Given the description of an element on the screen output the (x, y) to click on. 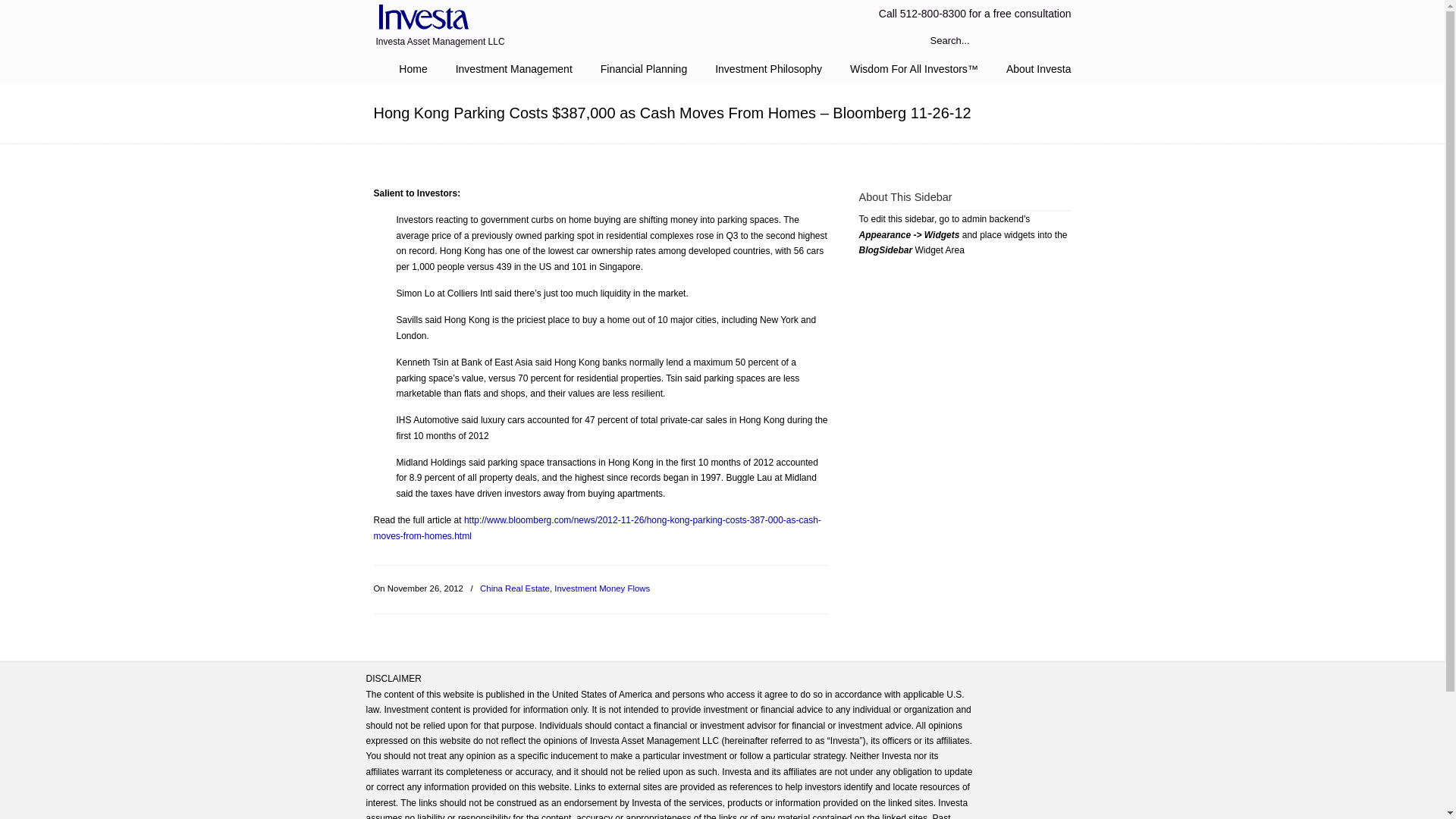
search (1055, 40)
Home (413, 69)
China Real Estate (515, 588)
Search... (978, 40)
Investment Management (514, 69)
Investment Philosophy (768, 69)
Investa Asset Management LLC (419, 17)
Financial Planning (643, 69)
About Investa (1038, 69)
search (1055, 40)
